Given the description of an element on the screen output the (x, y) to click on. 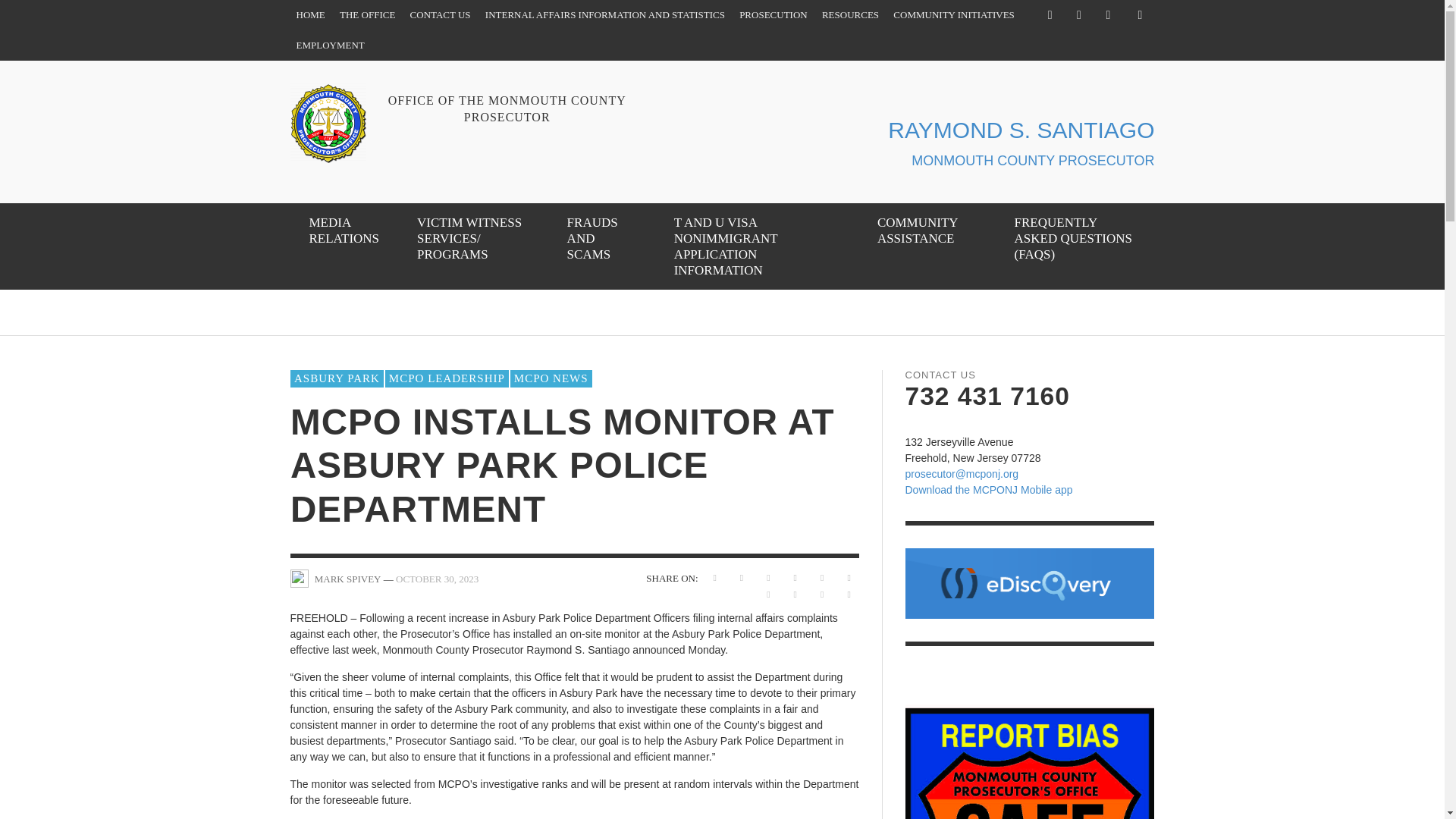
HOME (309, 15)
Youtube (1107, 15)
Twitter (1078, 15)
PROSECUTION (773, 15)
CONTACT US (440, 15)
INTERNAL AFFAIRS INFORMATION AND STATISTICS (604, 15)
Facebook (1049, 15)
THE OFFICE (367, 15)
